Given the description of an element on the screen output the (x, y) to click on. 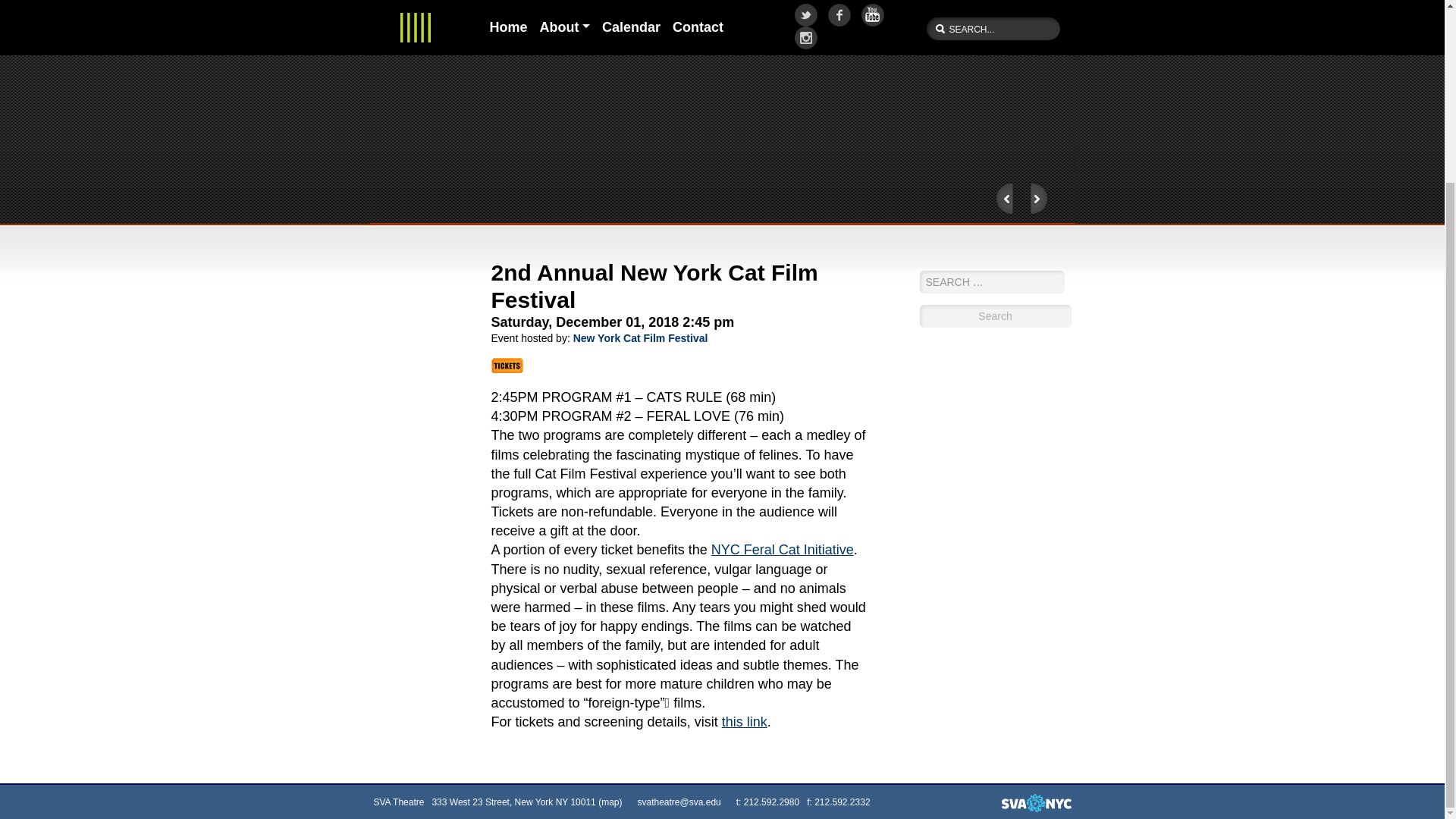
Search (994, 315)
Search (994, 315)
Search (994, 315)
Reserve Tickets (507, 365)
this link (744, 721)
New York Cat Film Festival (640, 337)
NYC Feral Cat Initiative (782, 549)
SVA (1035, 578)
